Given the description of an element on the screen output the (x, y) to click on. 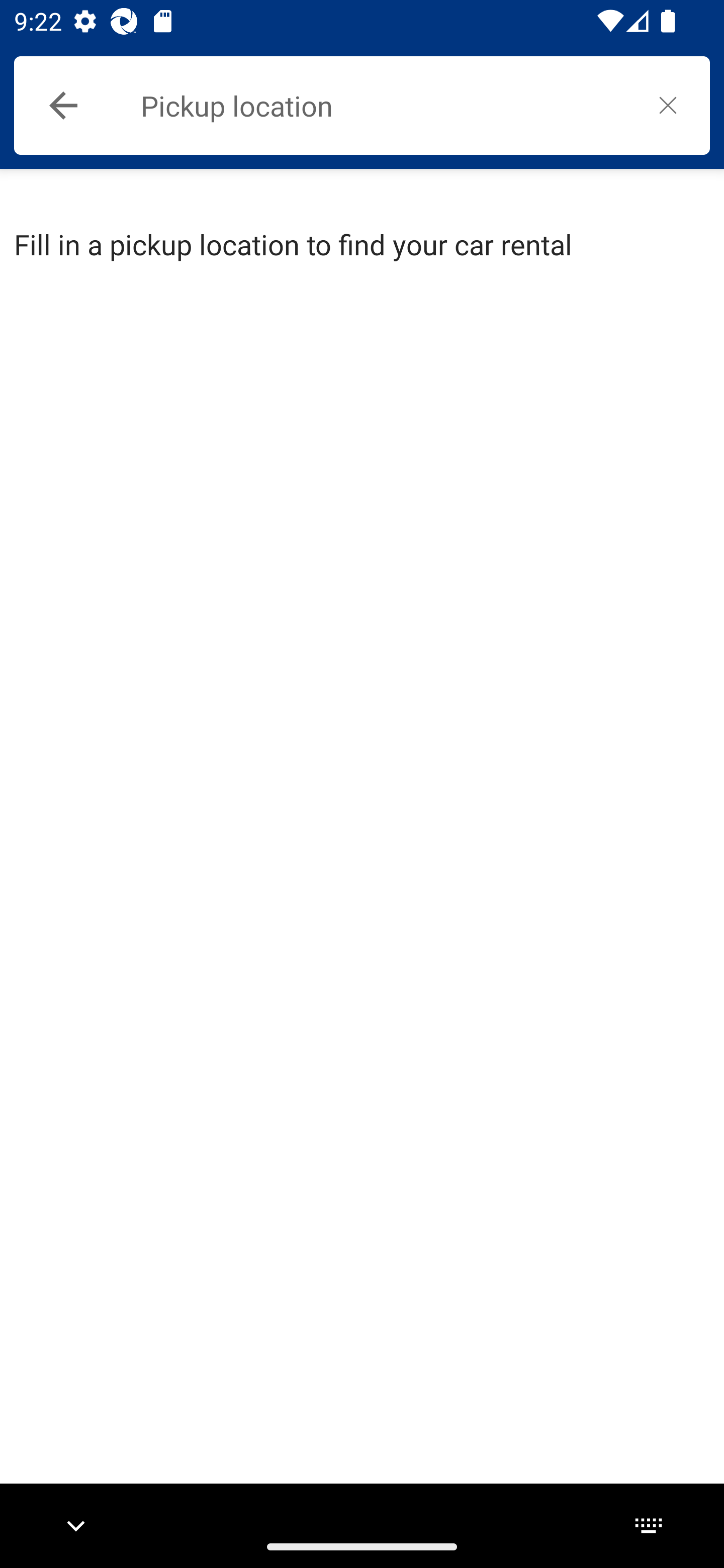
Navigate up (62, 105)
놕 (667, 104)
Pickup location (382, 105)
